Given the description of an element on the screen output the (x, y) to click on. 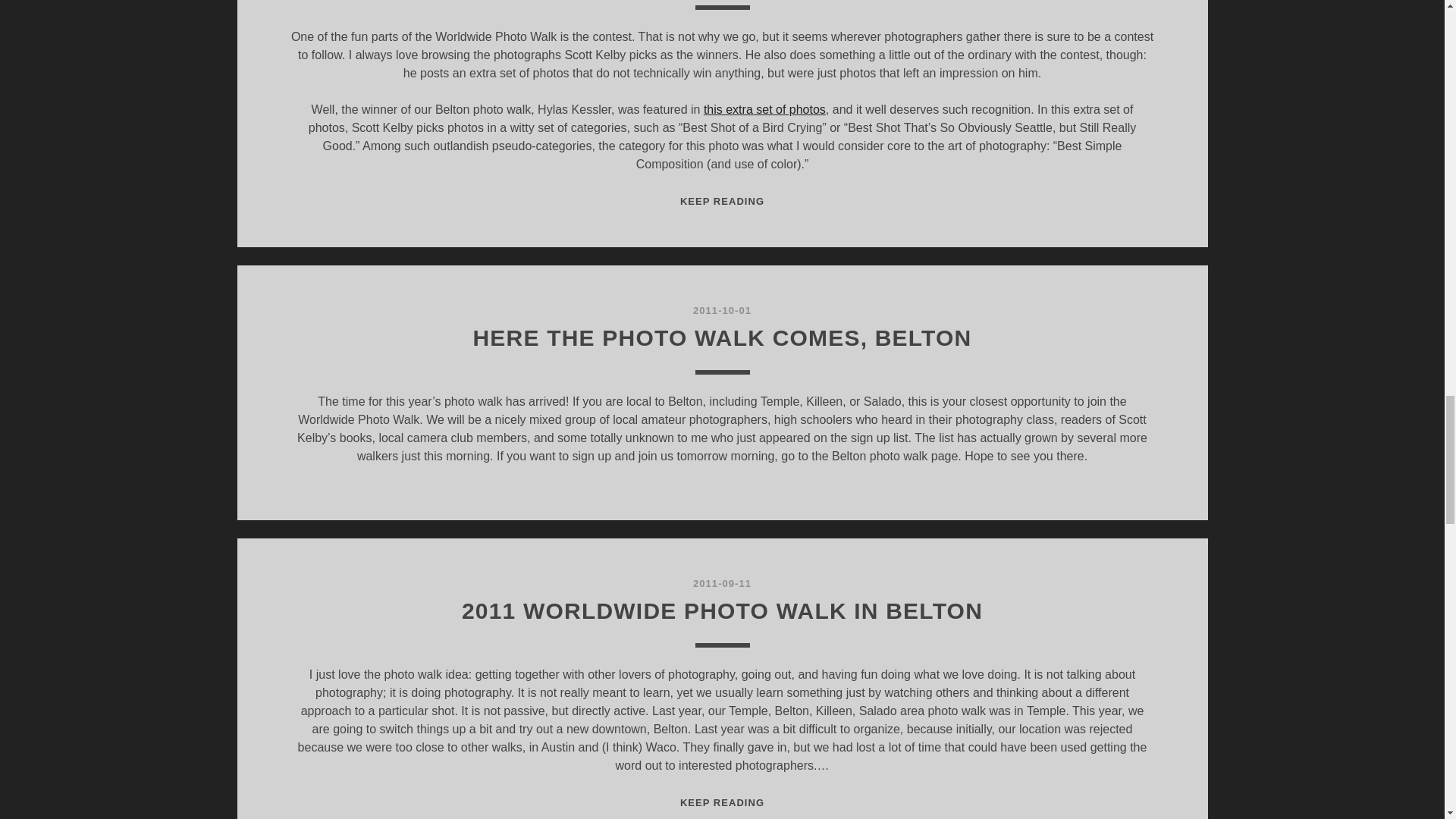
2011 WORLDWIDE PHOTO WALK IN BELTON (721, 610)
this extra set of photos (764, 109)
HERE THE PHOTO WALK COMES, BELTON (722, 337)
more winners worldwide photo walk (764, 109)
